Given the description of an element on the screen output the (x, y) to click on. 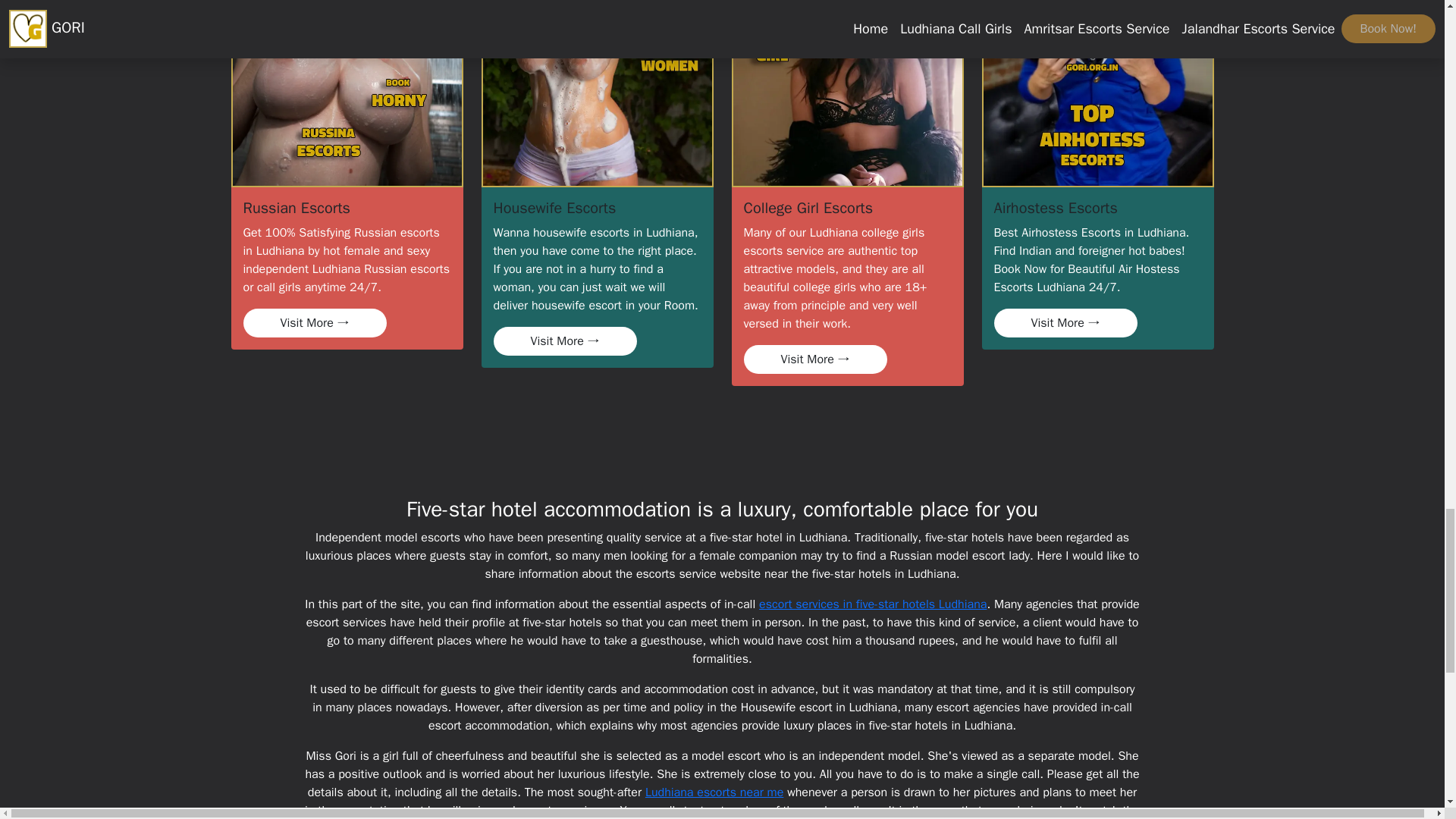
escort services in five-star hotels Ludhiana (872, 604)
Ludhiana escorts near me (714, 792)
